Given the description of an element on the screen output the (x, y) to click on. 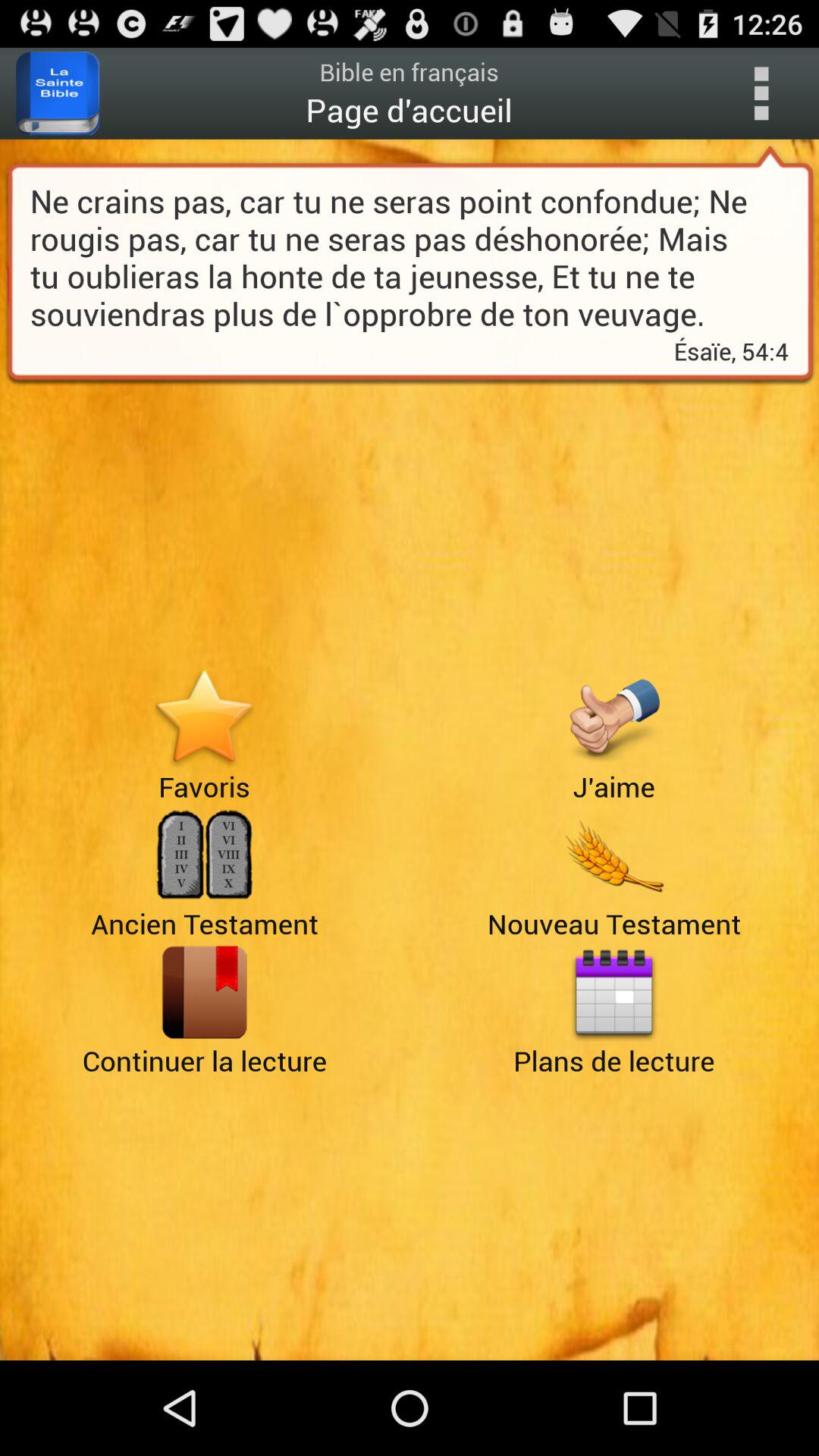
go to alternate page (204, 854)
